Given the description of an element on the screen output the (x, y) to click on. 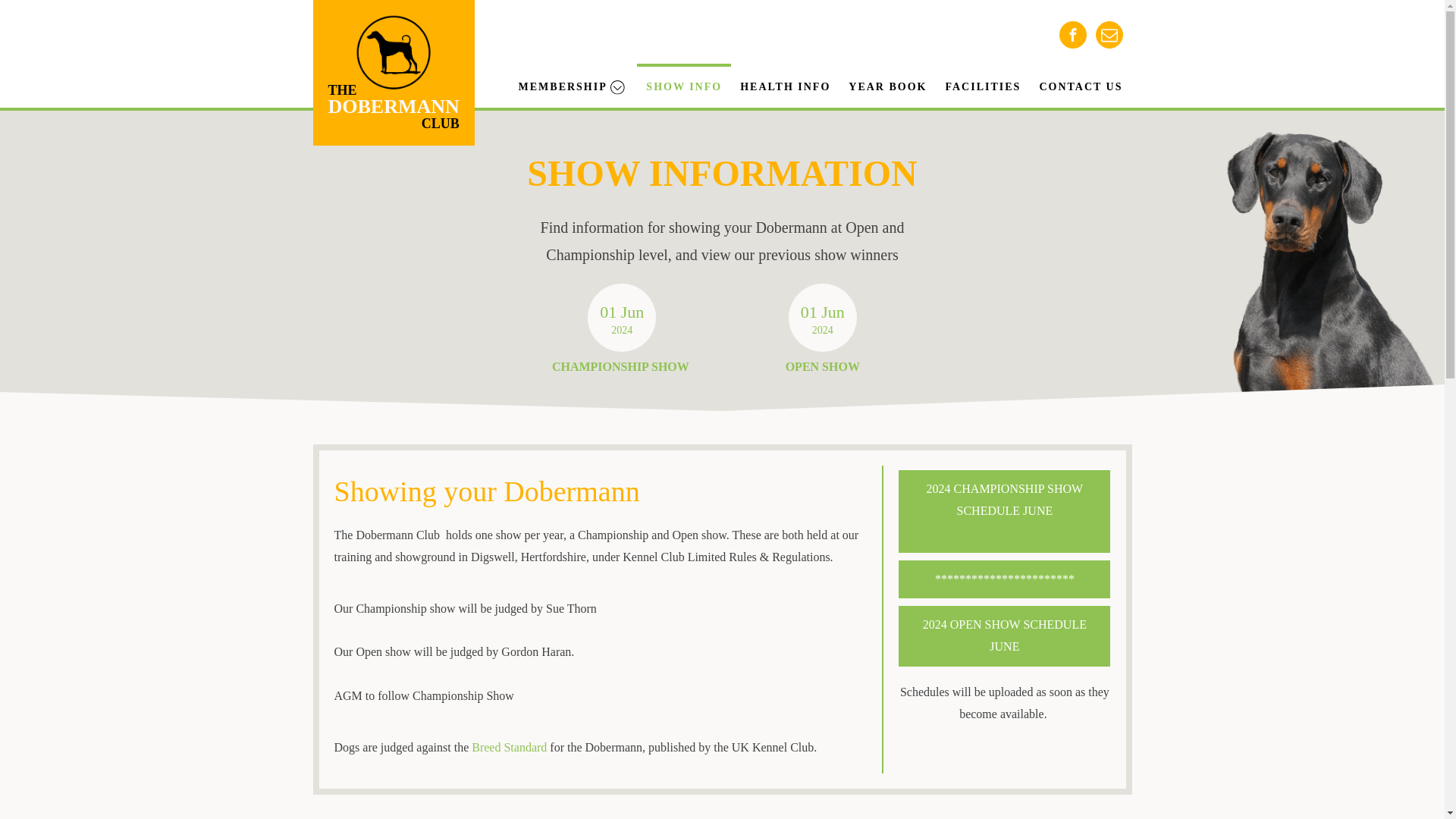
CONTACT US (1080, 85)
2024 OPEN SHOW SCHEDULE JUNE (1003, 636)
2024 CHAMPIONSHIP SHOW SCHEDULE JUNE (1003, 511)
BREEDERS (548, 140)
FACILITIES (982, 85)
Breed Standard (509, 747)
HEALTH INFO (785, 85)
YEAR BOOK (888, 85)
SHOW INFO (393, 53)
MEMBERSHIP (683, 85)
